Given the description of an element on the screen output the (x, y) to click on. 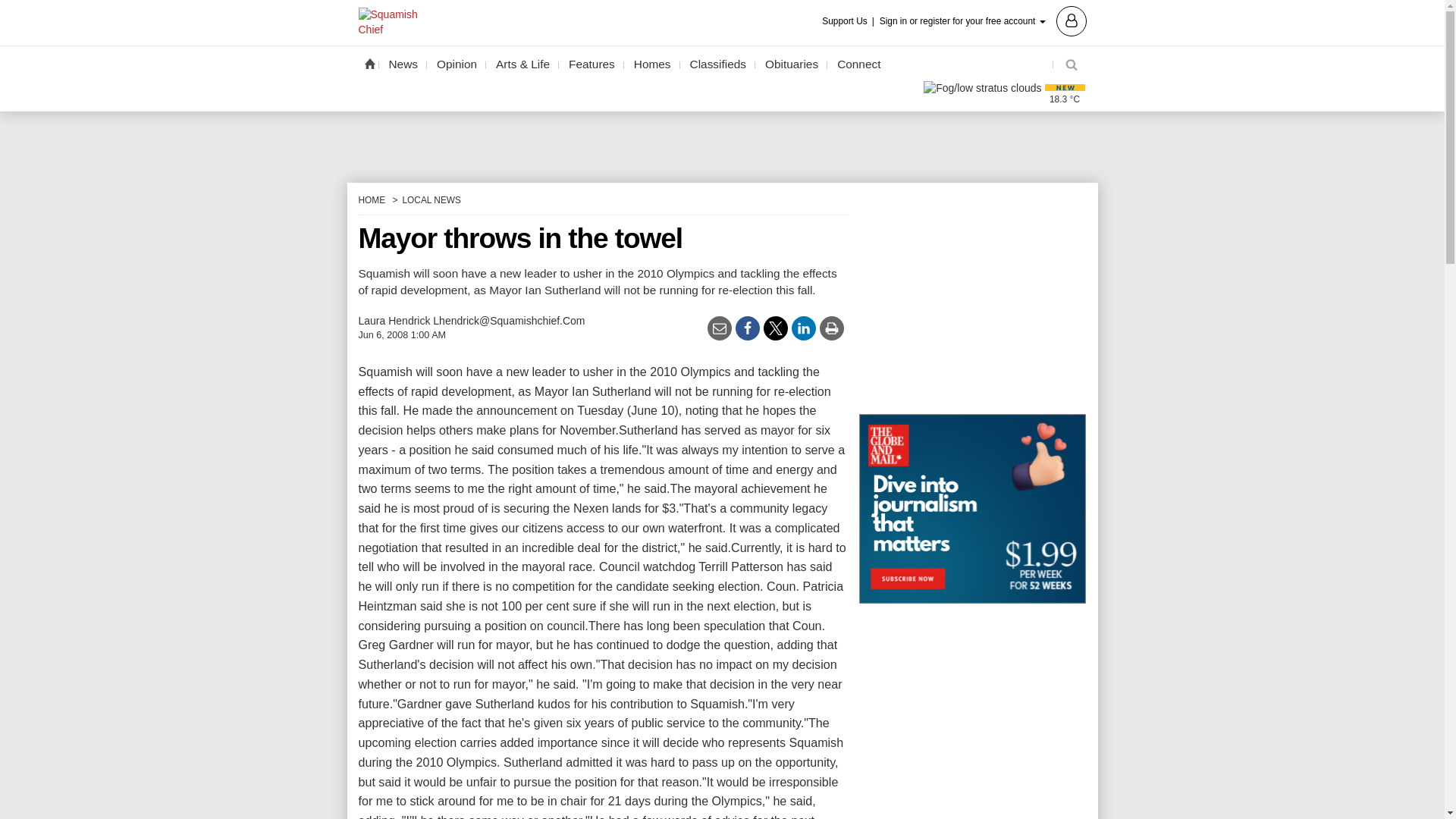
Sign in or register for your free account (982, 20)
Support Us (849, 21)
Opinion (456, 64)
News (403, 64)
Home (368, 63)
